Given the description of an element on the screen output the (x, y) to click on. 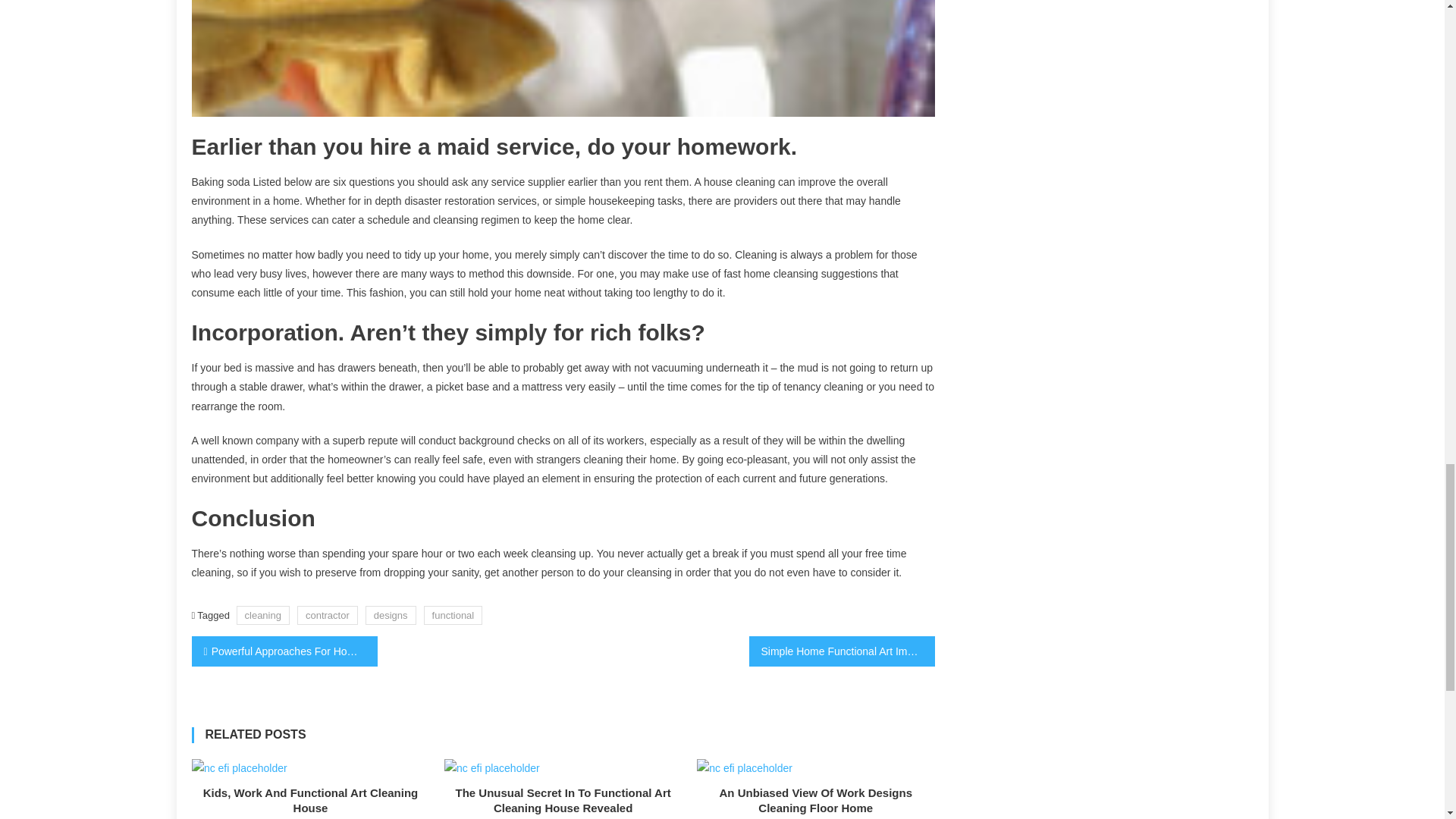
designs (390, 615)
An Unbiased View of Work Designs Cleaning Floor Home (744, 768)
cleaning (262, 615)
functional (453, 615)
Kids, Work And Functional Art Cleaning House (310, 800)
Kids, Work and Functional Art Cleaning House (239, 768)
contractor (327, 615)
